Given the description of an element on the screen output the (x, y) to click on. 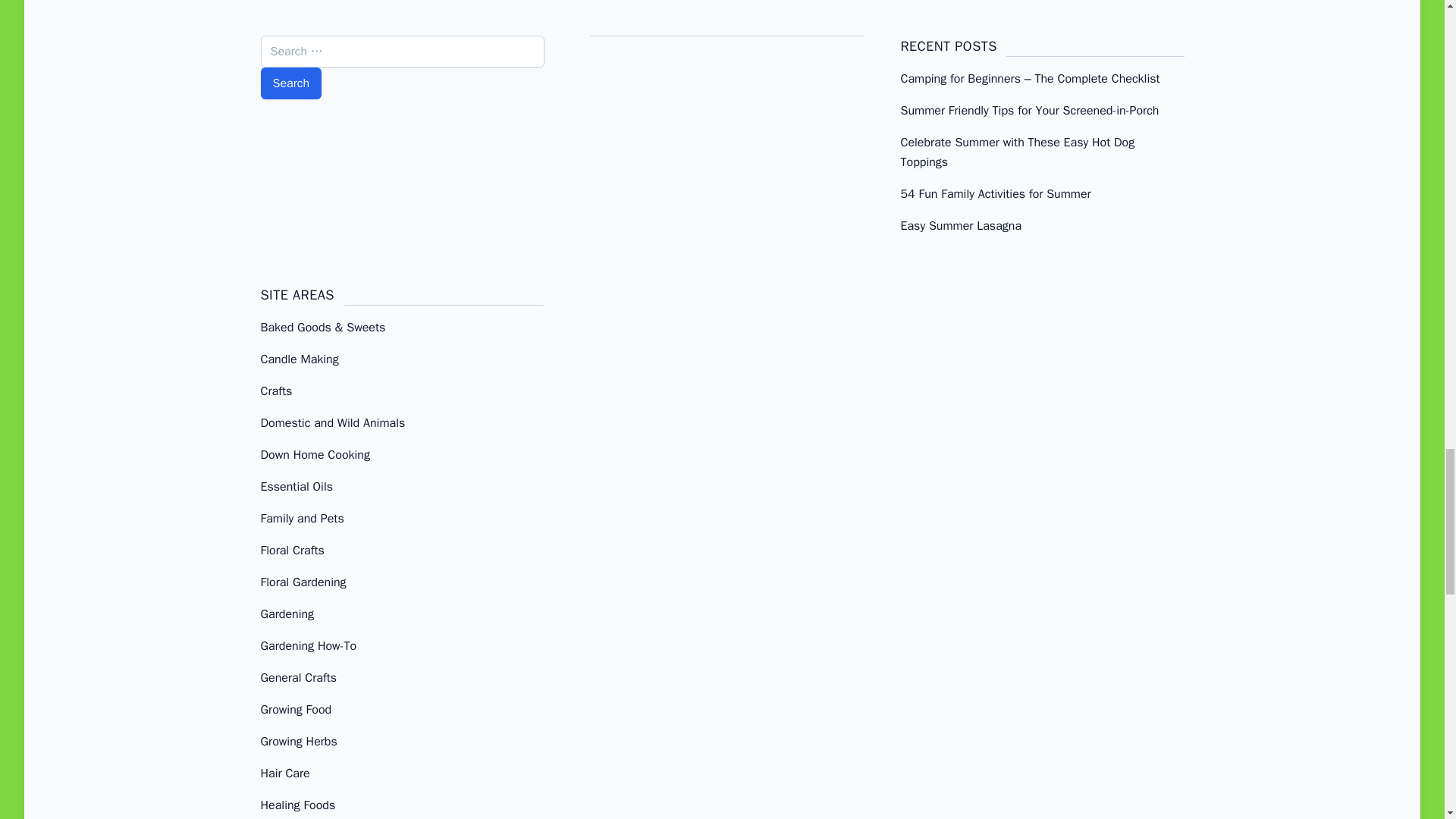
Search (290, 83)
Search (290, 83)
